Given the description of an element on the screen output the (x, y) to click on. 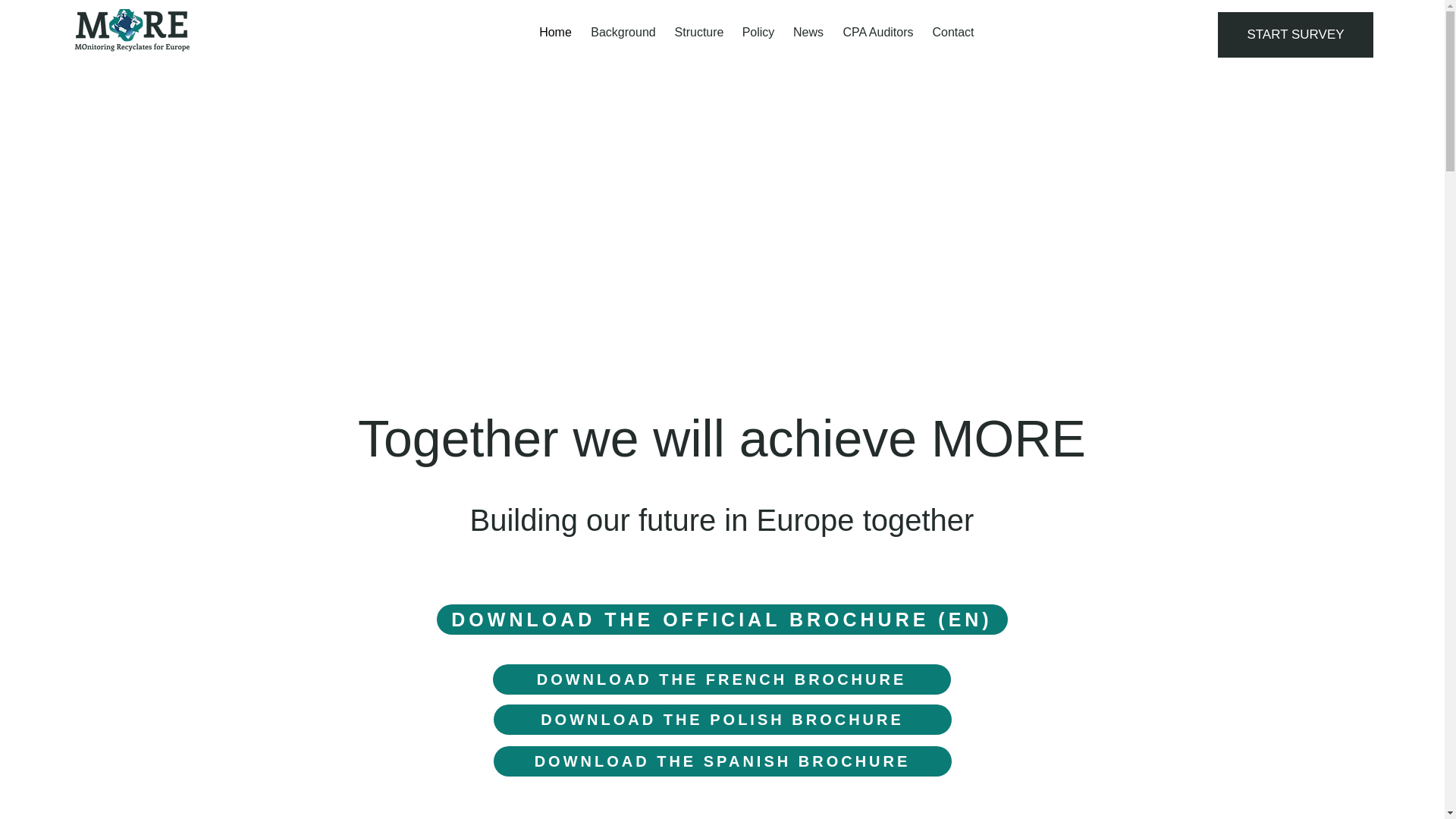
CPA Auditors (877, 32)
START SURVEY (1295, 34)
Policy (757, 32)
DOWNLOAD THE FRENCH BROCHURE (721, 679)
News (808, 32)
Home (554, 32)
Background (622, 32)
DOWNLOAD THE SPANISH BROCHURE (721, 761)
DOWNLOAD THE POLISH BROCHURE (721, 719)
Contact (953, 32)
Structure (699, 32)
